Given the description of an element on the screen output the (x, y) to click on. 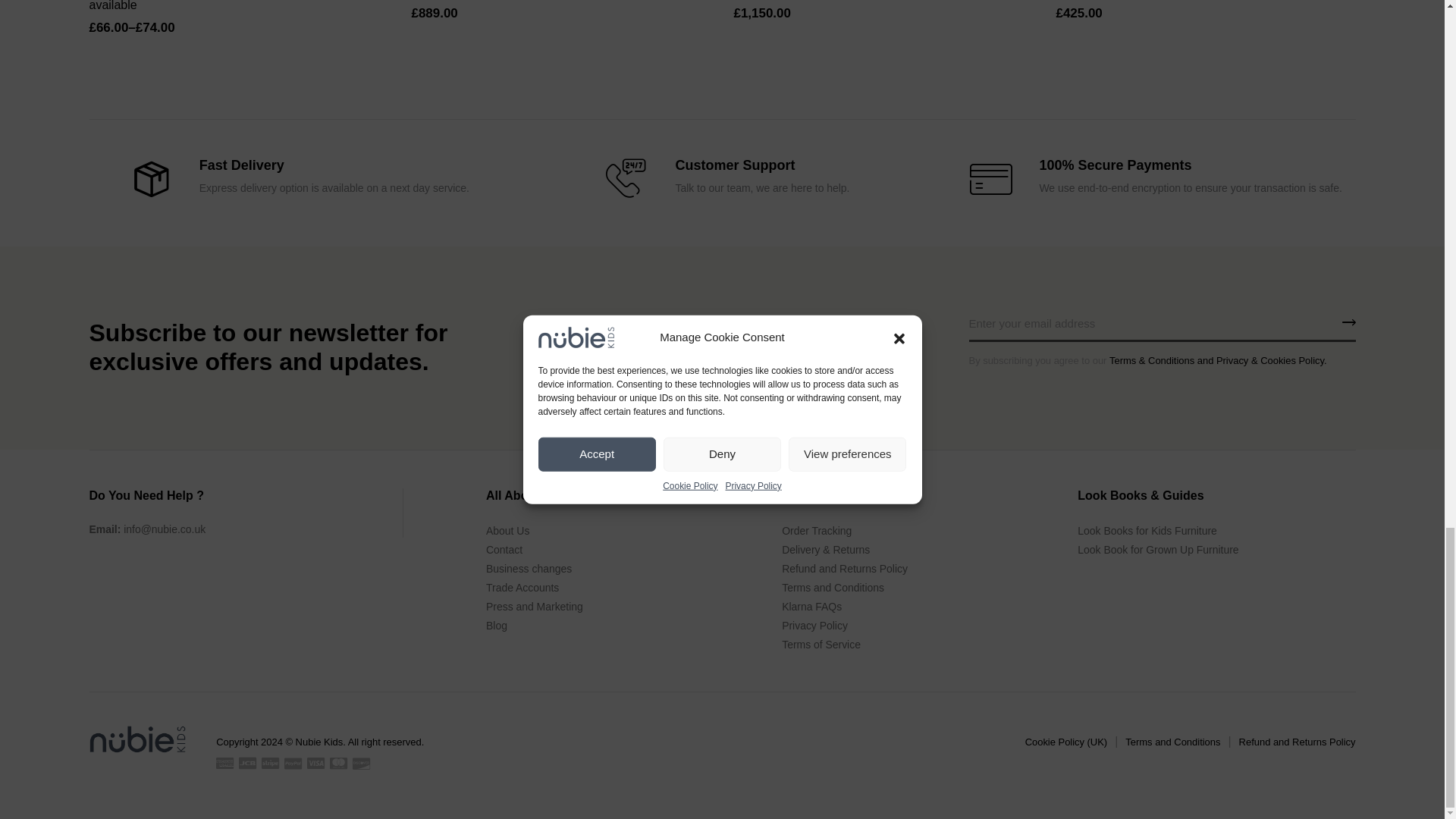
Nubie Kids (137, 738)
